Given the description of an element on the screen output the (x, y) to click on. 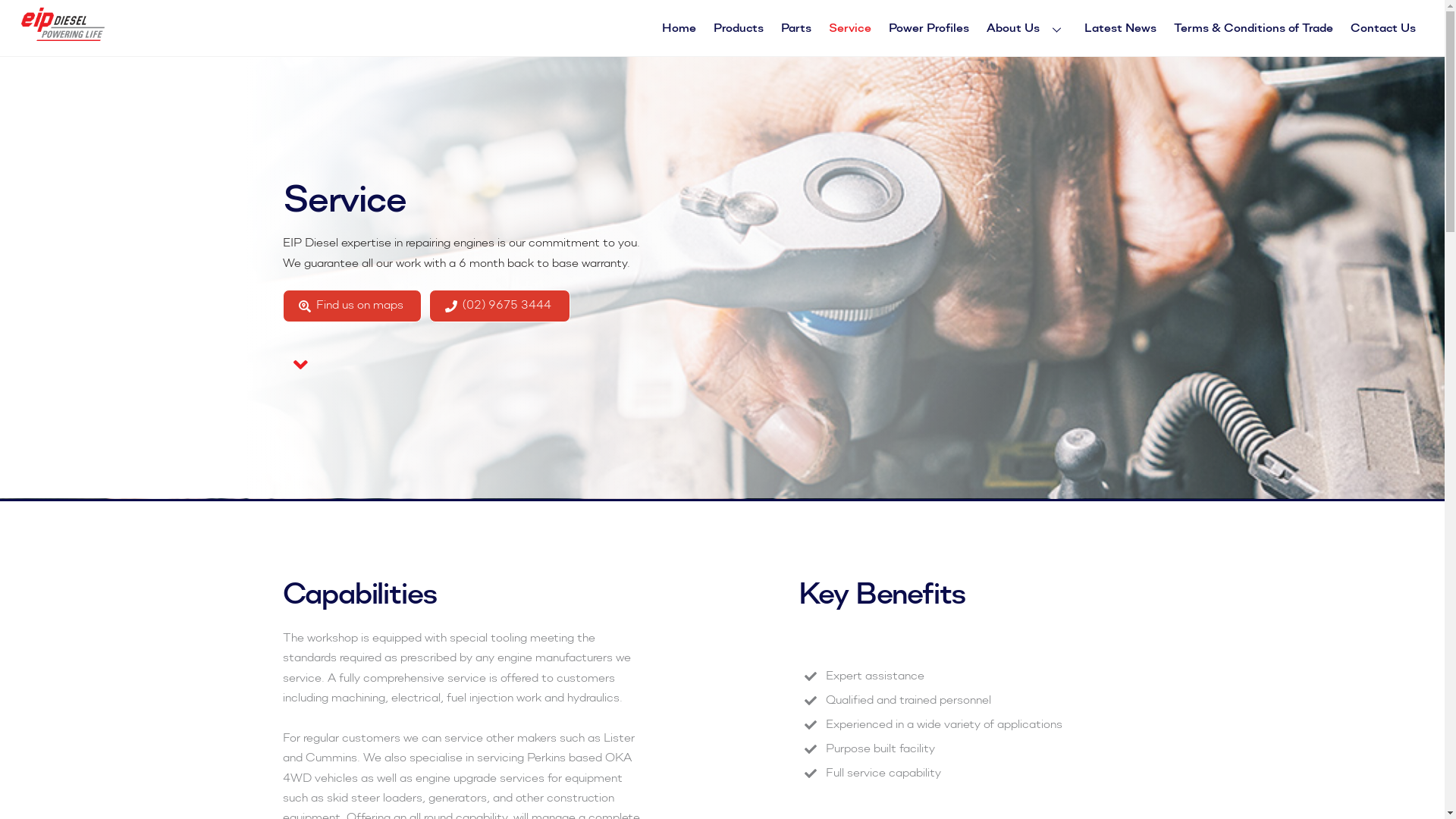
About Us Element type: text (1026, 28)
Power Profiles Element type: text (928, 28)
(02) 9675 3444 Element type: text (499, 305)
Parts Element type: text (795, 28)
Service Element type: text (849, 28)
Products Element type: text (738, 28)
Contact Us Element type: text (1383, 28)
Terms & Conditions of Trade Element type: text (1253, 28)
EIP Diesel Element type: hover (62, 35)
Find us on maps Element type: text (351, 305)
Home Element type: text (678, 28)
eip-diesel-logo Element type: hover (62, 23)
Latest News Element type: text (1119, 28)
